Given the description of an element on the screen output the (x, y) to click on. 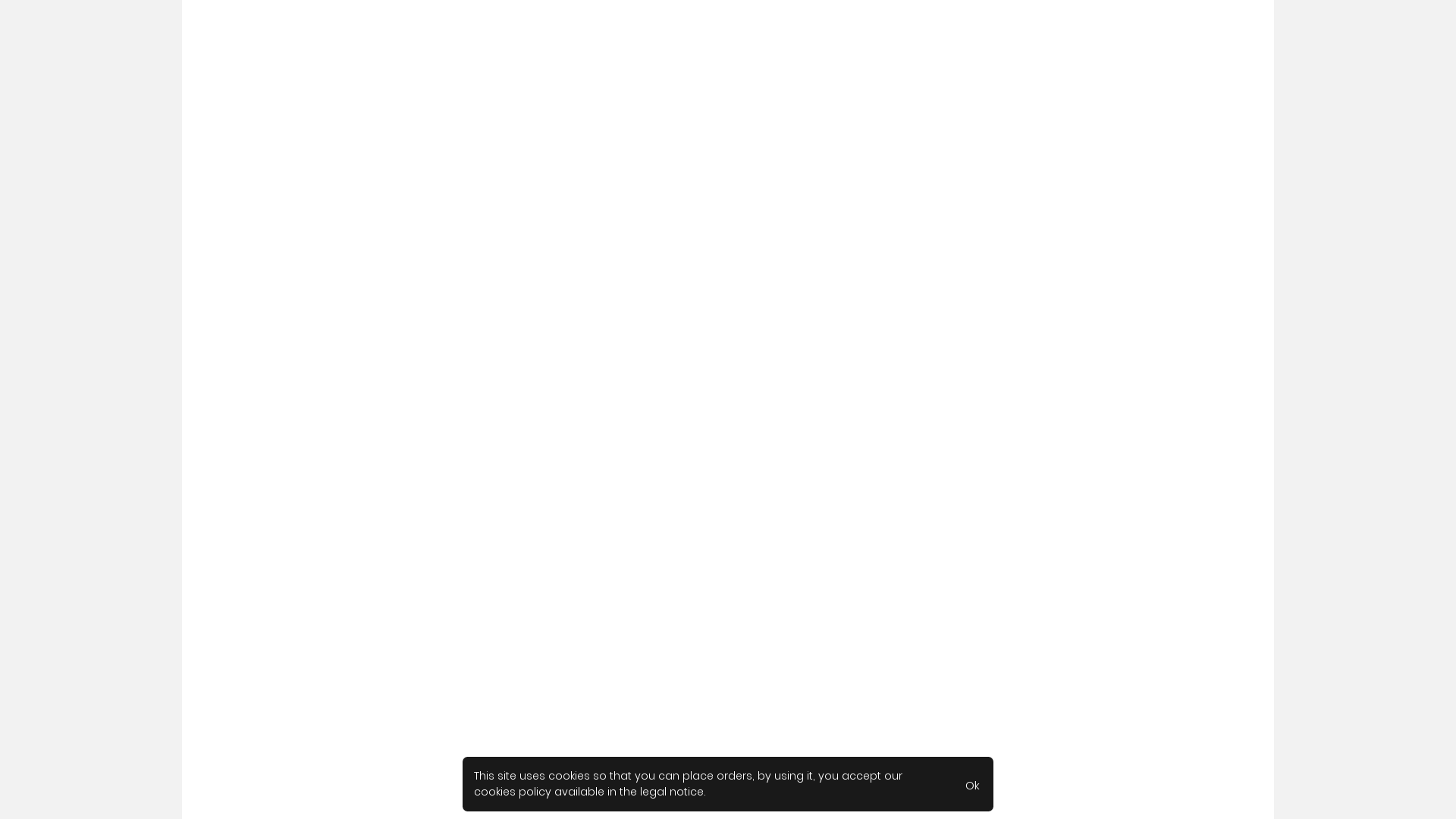
Ok Element type: text (972, 784)
